Given the description of an element on the screen output the (x, y) to click on. 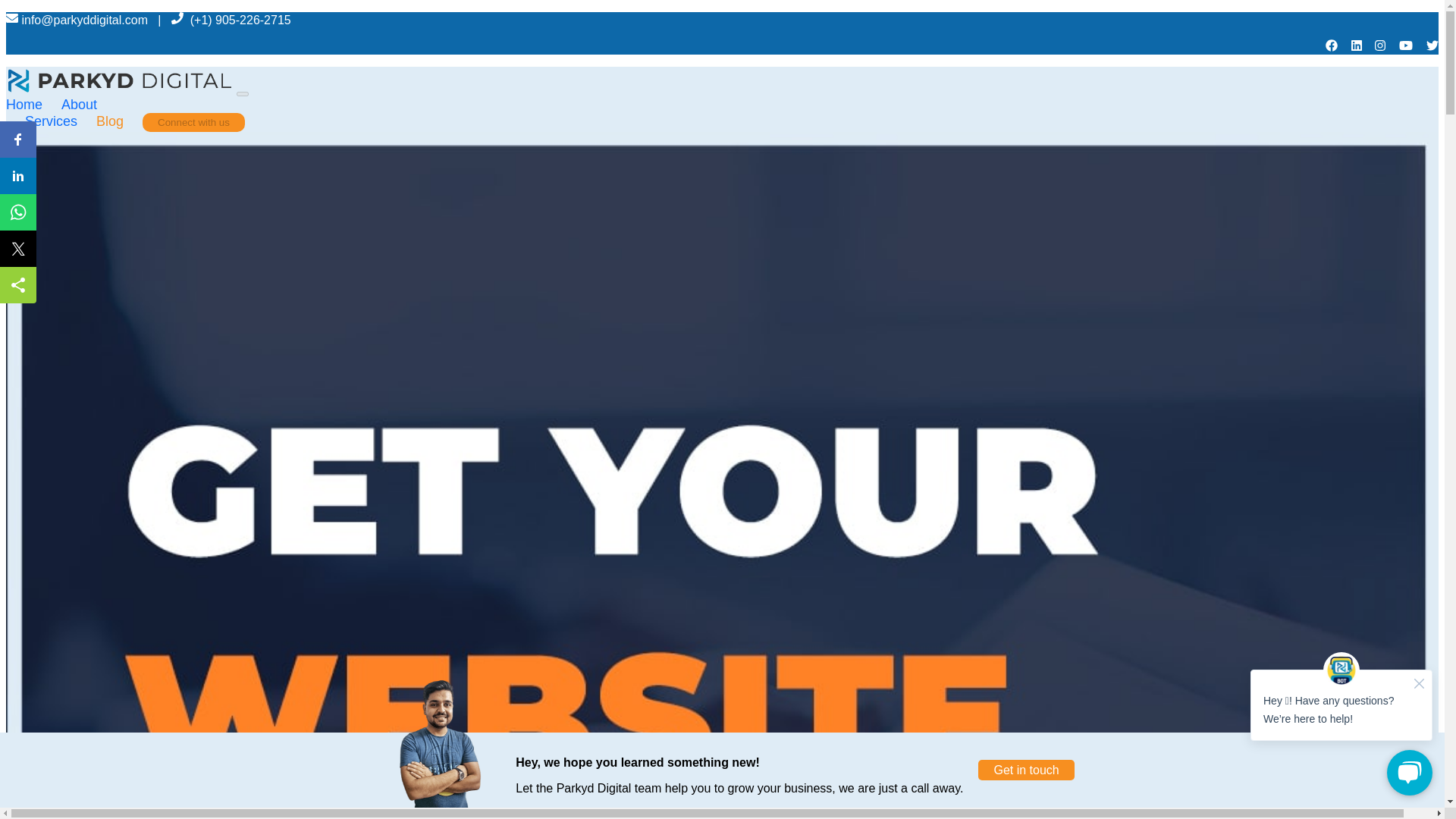
Connect with us (193, 121)
Home (33, 104)
Blog (119, 120)
Connect with us (193, 122)
Get in touch (1026, 770)
Services (60, 120)
